Given the description of an element on the screen output the (x, y) to click on. 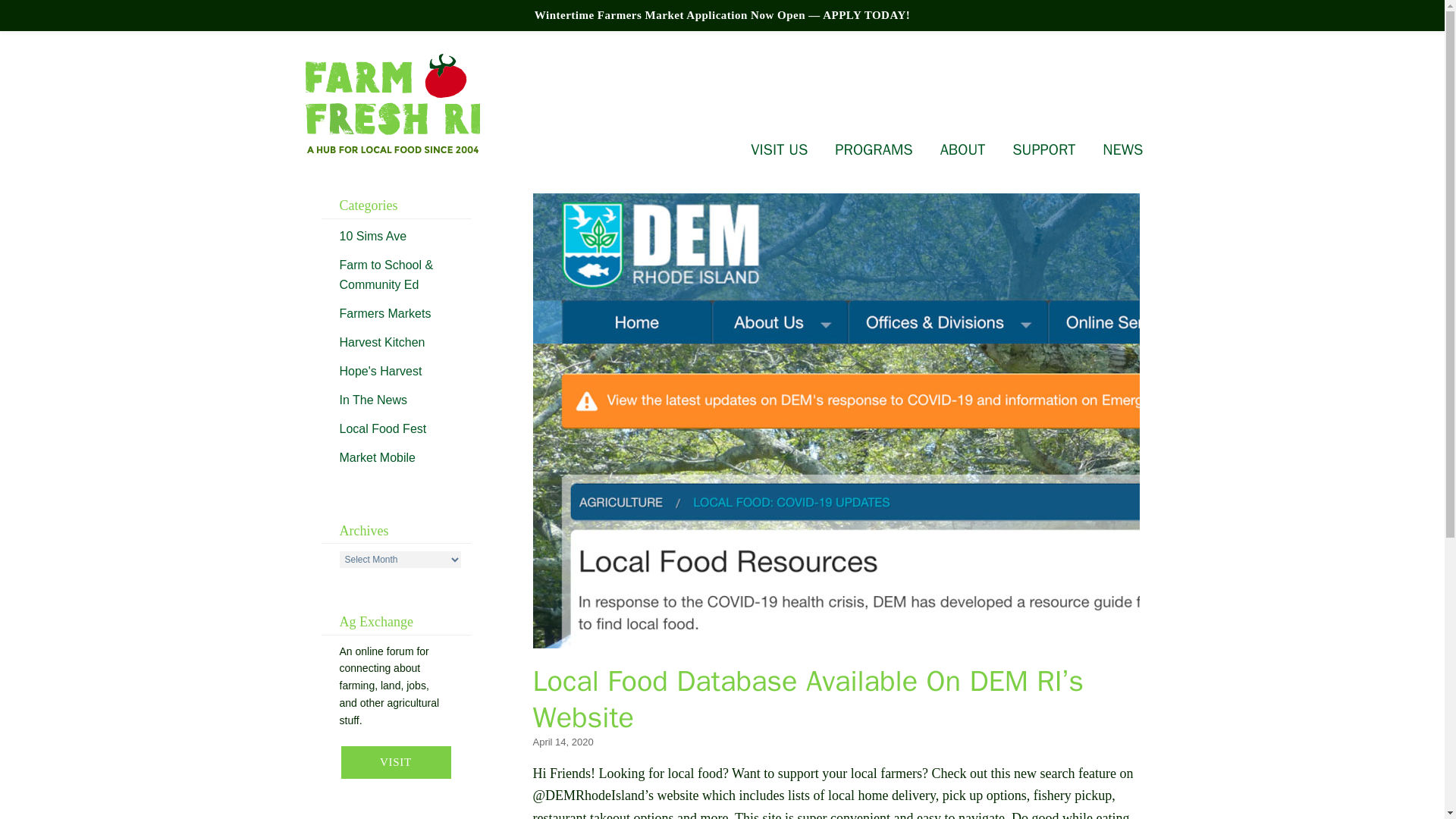
PROGRAMS (873, 149)
Farmers Markets (384, 312)
Market Mobile (376, 456)
Local Food Fest (382, 427)
ABOUT (962, 149)
10 Sims Ave (373, 235)
Farm Fresh Rhode Island (391, 105)
Harvest Kitchen (382, 341)
NEWS (1122, 149)
VISIT US (778, 149)
Hope's Harvest (380, 369)
SUPPORT (1043, 149)
In The News (373, 399)
VISIT (395, 762)
